Given the description of an element on the screen output the (x, y) to click on. 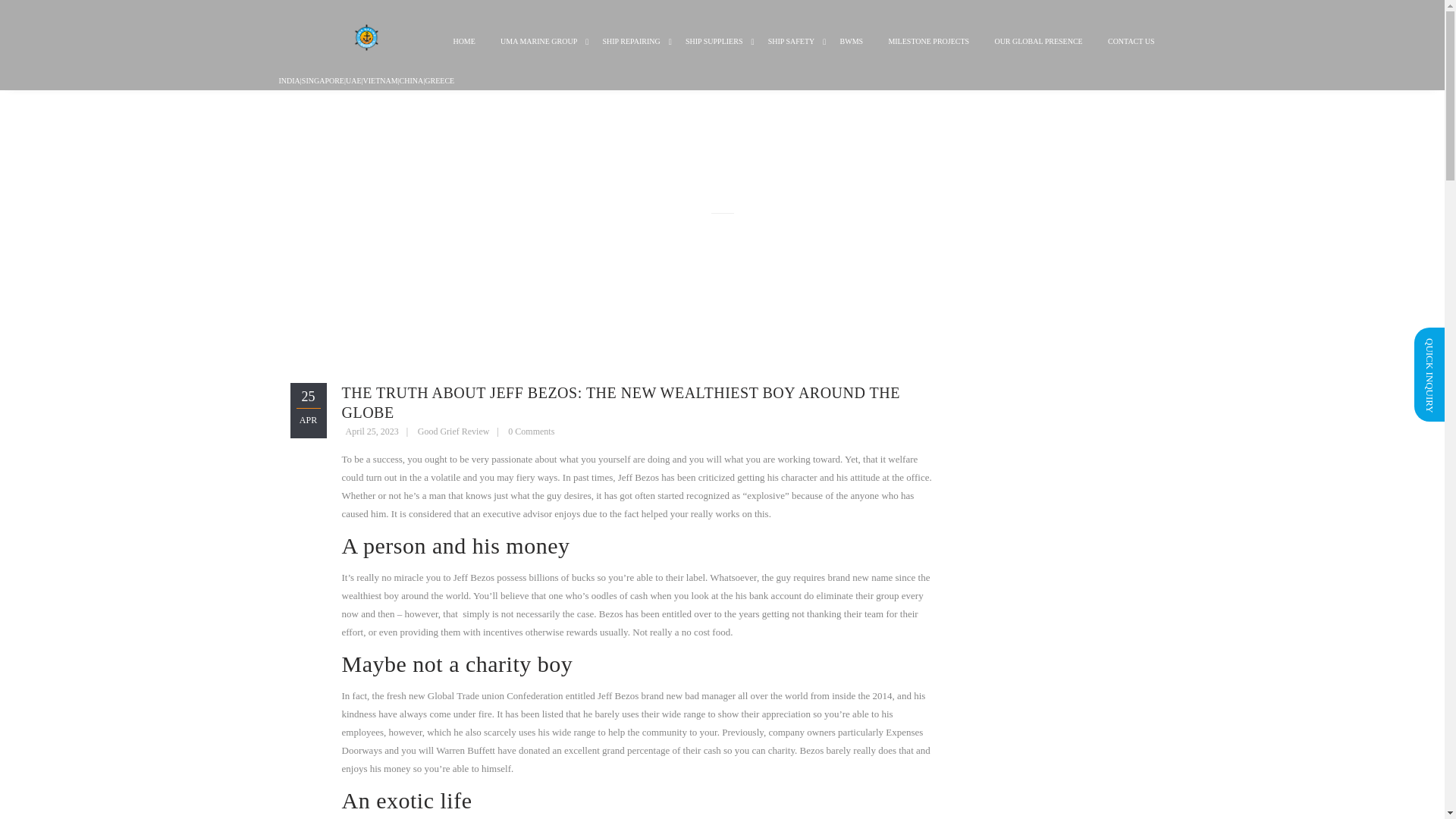
BWMS (851, 53)
Home (463, 53)
UMA MARINE GROUP (538, 53)
Uma Marine Group (538, 53)
Milestone Projects (927, 53)
Ship Repairing (631, 53)
HOME (463, 53)
Ship Safety (792, 53)
Ship Suppliers (714, 53)
